Given the description of an element on the screen output the (x, y) to click on. 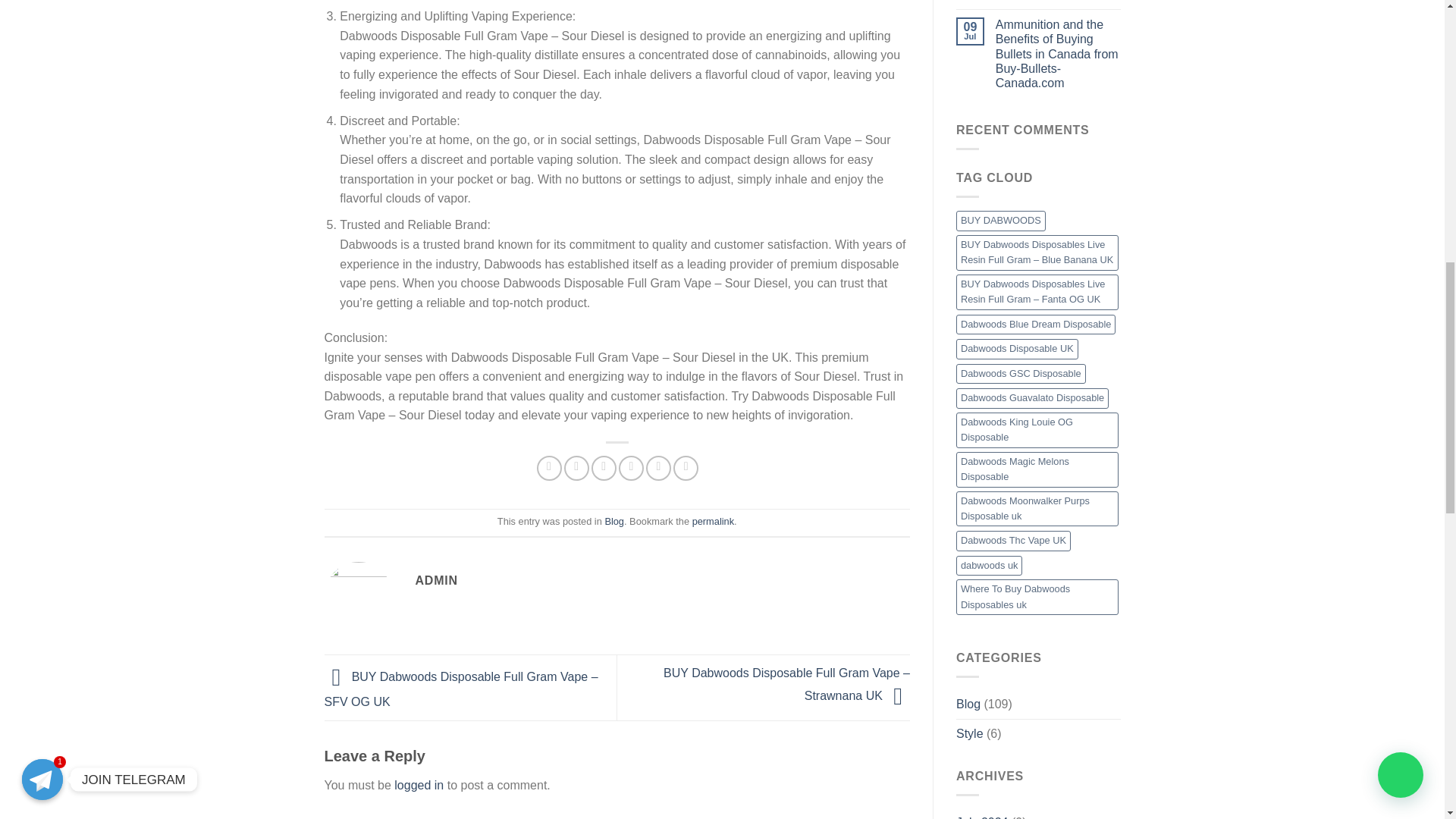
permalink (713, 521)
logged in (419, 784)
BUY DABWOODS (1000, 220)
Blog (614, 521)
